Given the description of an element on the screen output the (x, y) to click on. 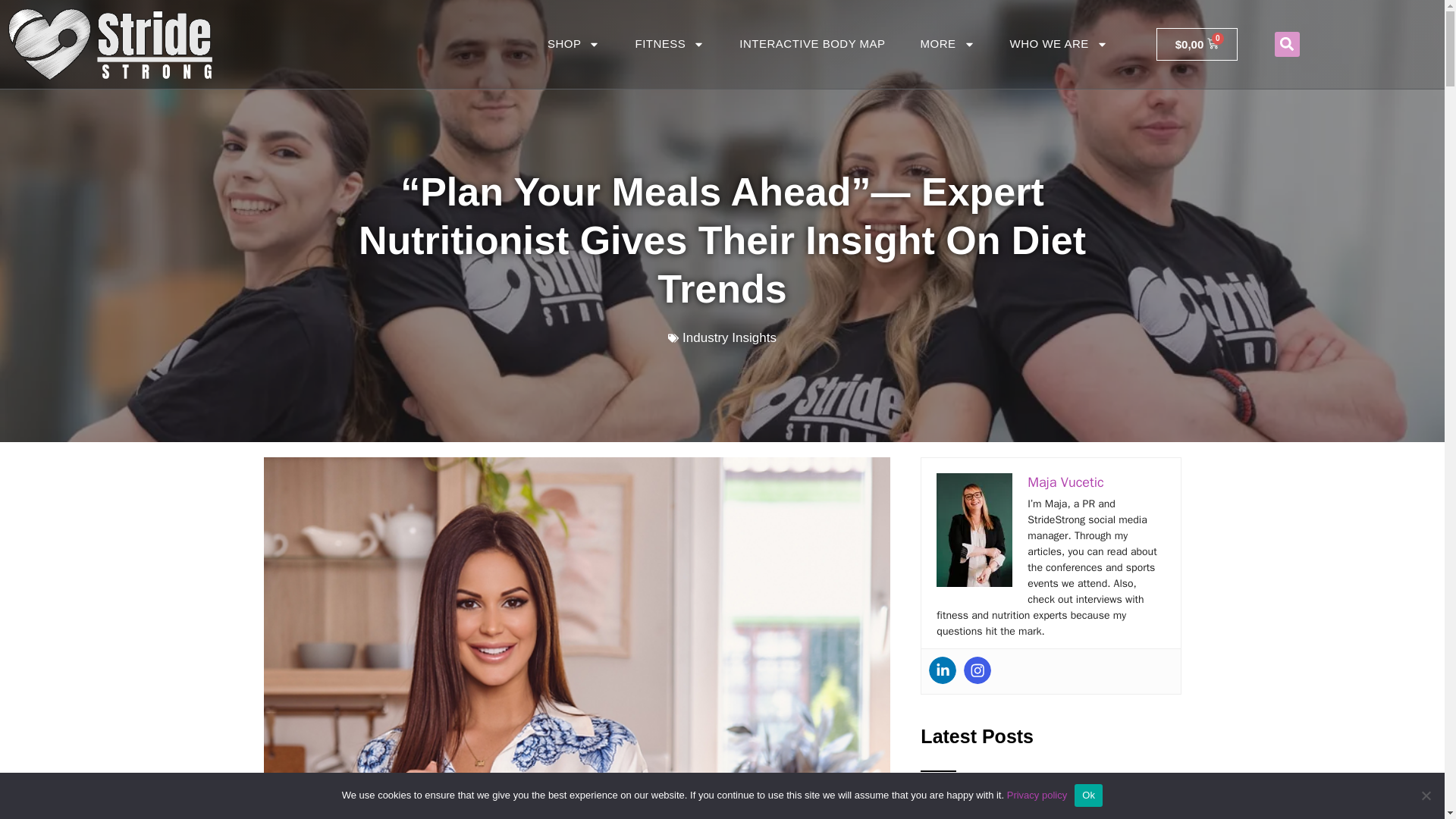
SHOP (573, 43)
FITNESS (669, 43)
MORE (947, 43)
Instagram (977, 669)
WHO WE ARE (1059, 43)
Linkedin (942, 669)
INTERACTIVE BODY MAP (812, 43)
No (1425, 795)
